Given the description of an element on the screen output the (x, y) to click on. 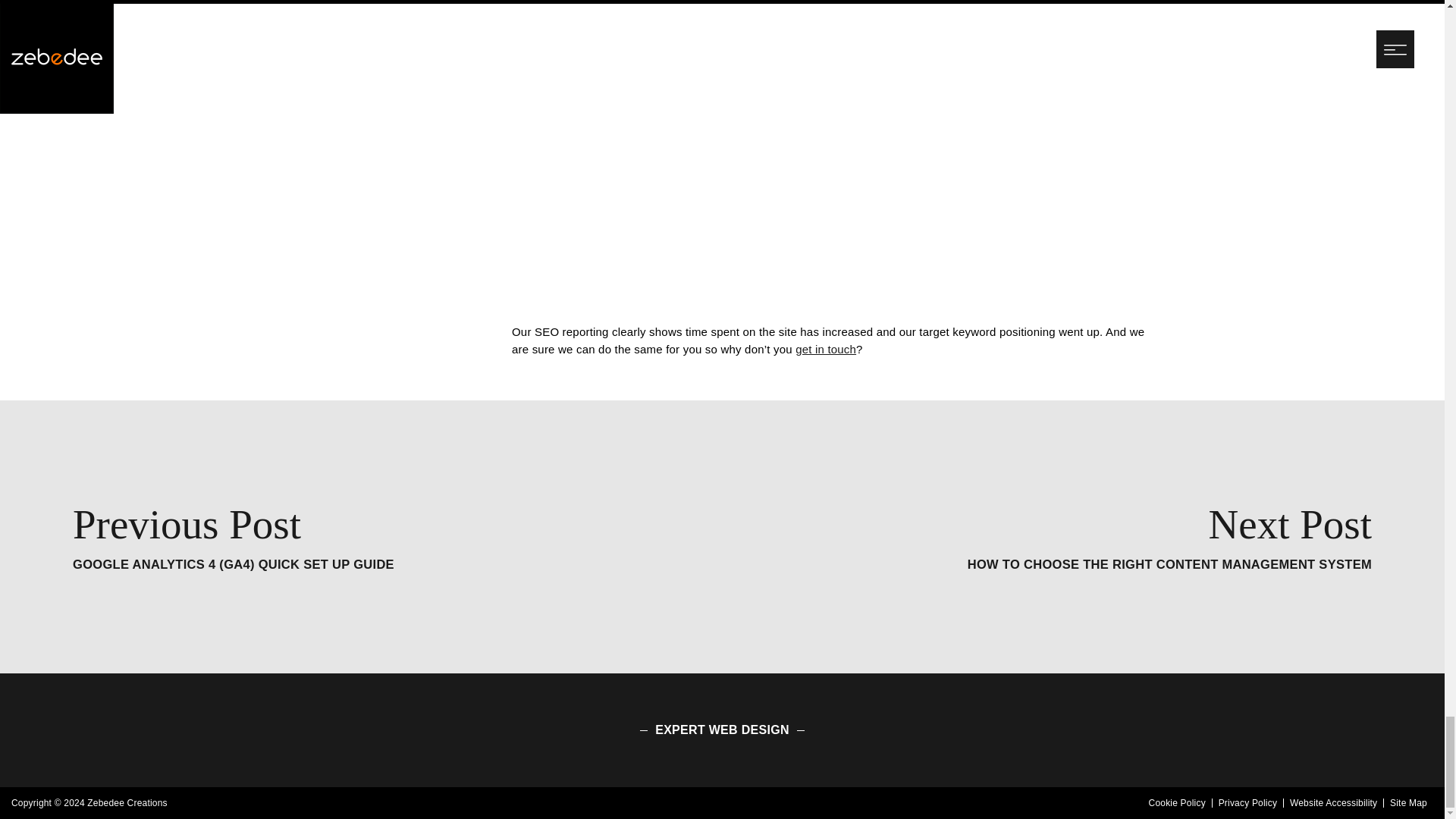
Website Accessibility (1333, 802)
Site Map (1408, 802)
Cookie Policy (1176, 802)
How to Choose the Right Content Management System (1169, 536)
get in touch (825, 349)
Privacy Policy (1169, 536)
